Given the description of an element on the screen output the (x, y) to click on. 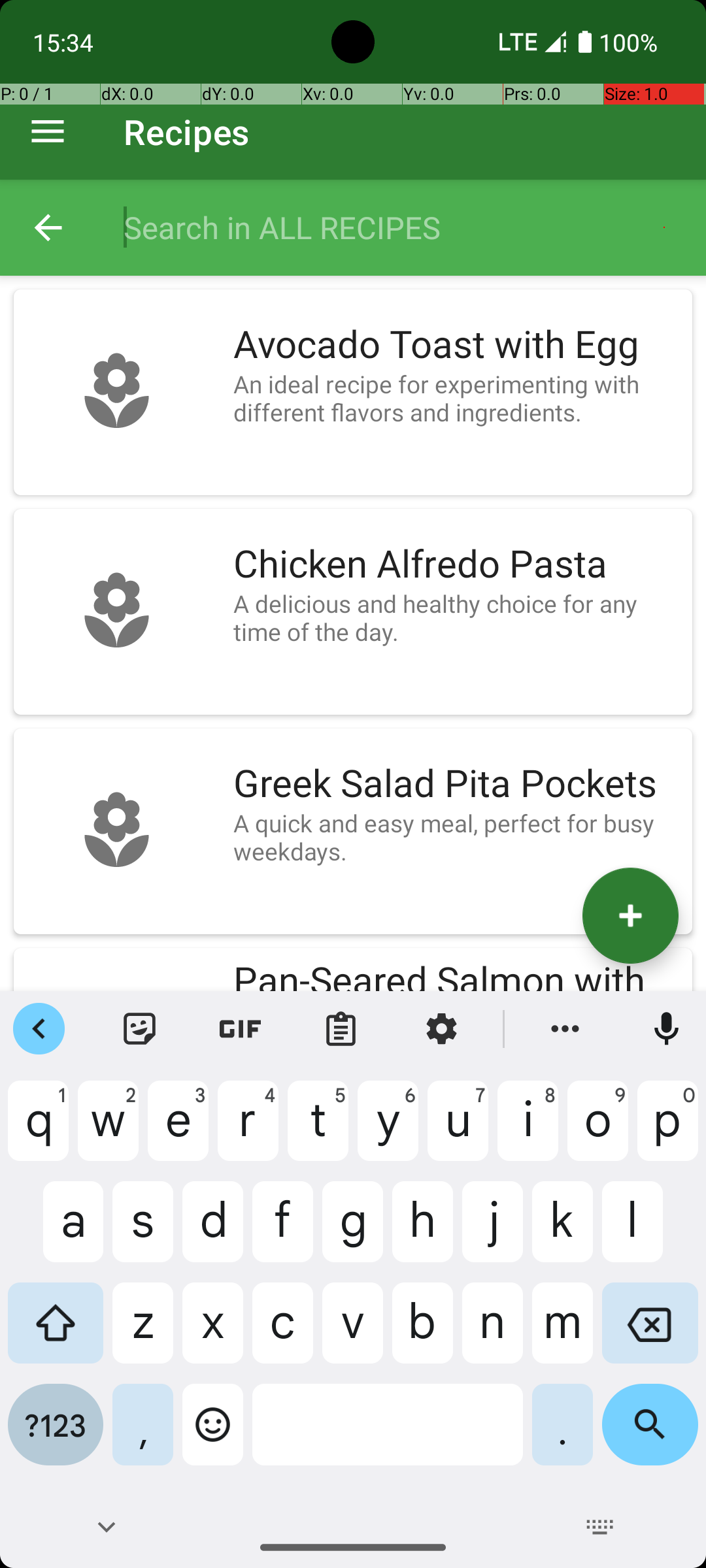
Search in ALL RECIPES Element type: android.widget.AutoCompleteTextView (400, 227)
